Given the description of an element on the screen output the (x, y) to click on. 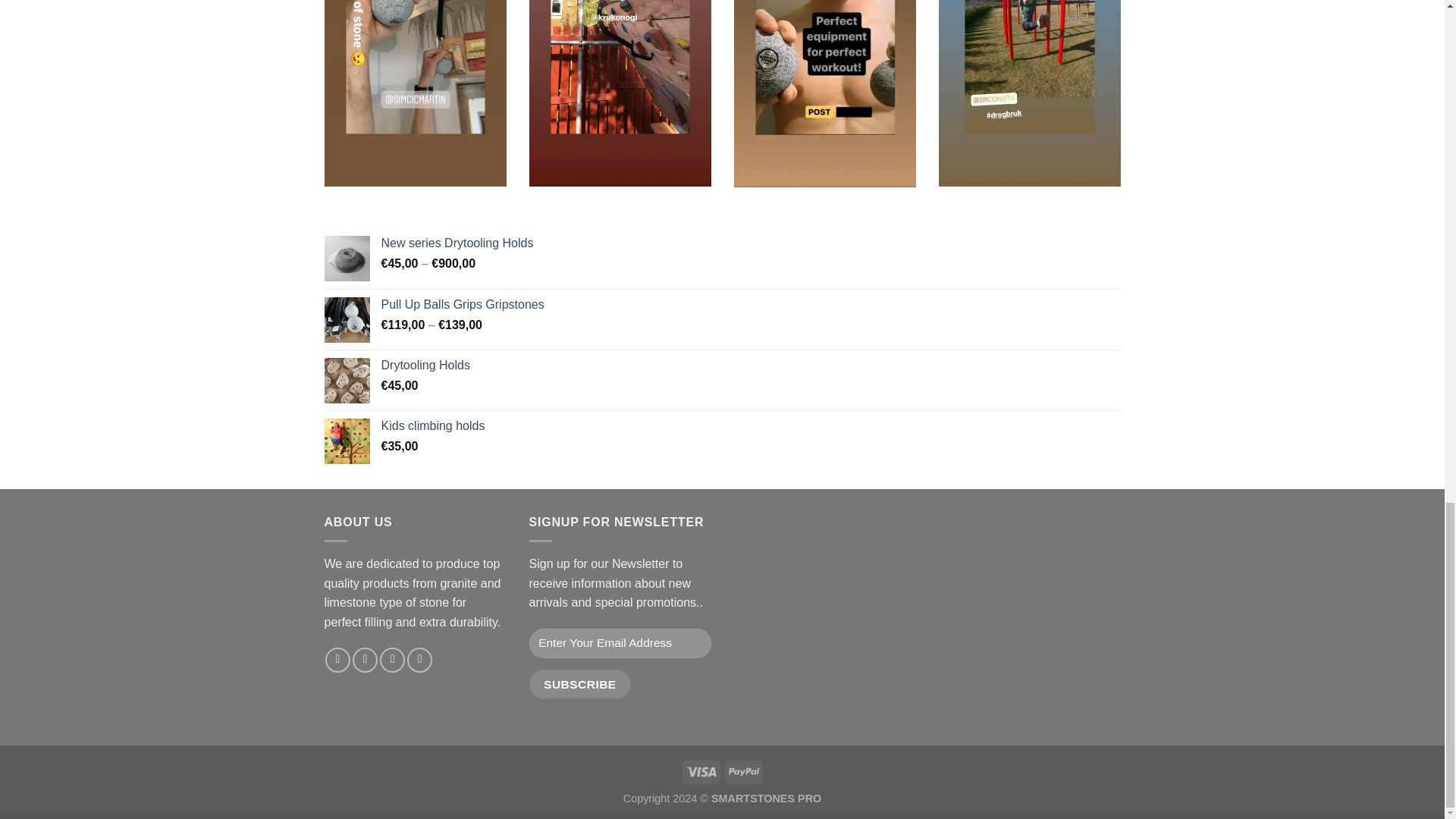
Follow on LinkedIn (419, 659)
Subscribe (580, 684)
Send us an email (392, 659)
Follow on Instagram (364, 659)
Follow on Facebook (337, 659)
